Given the description of an element on the screen output the (x, y) to click on. 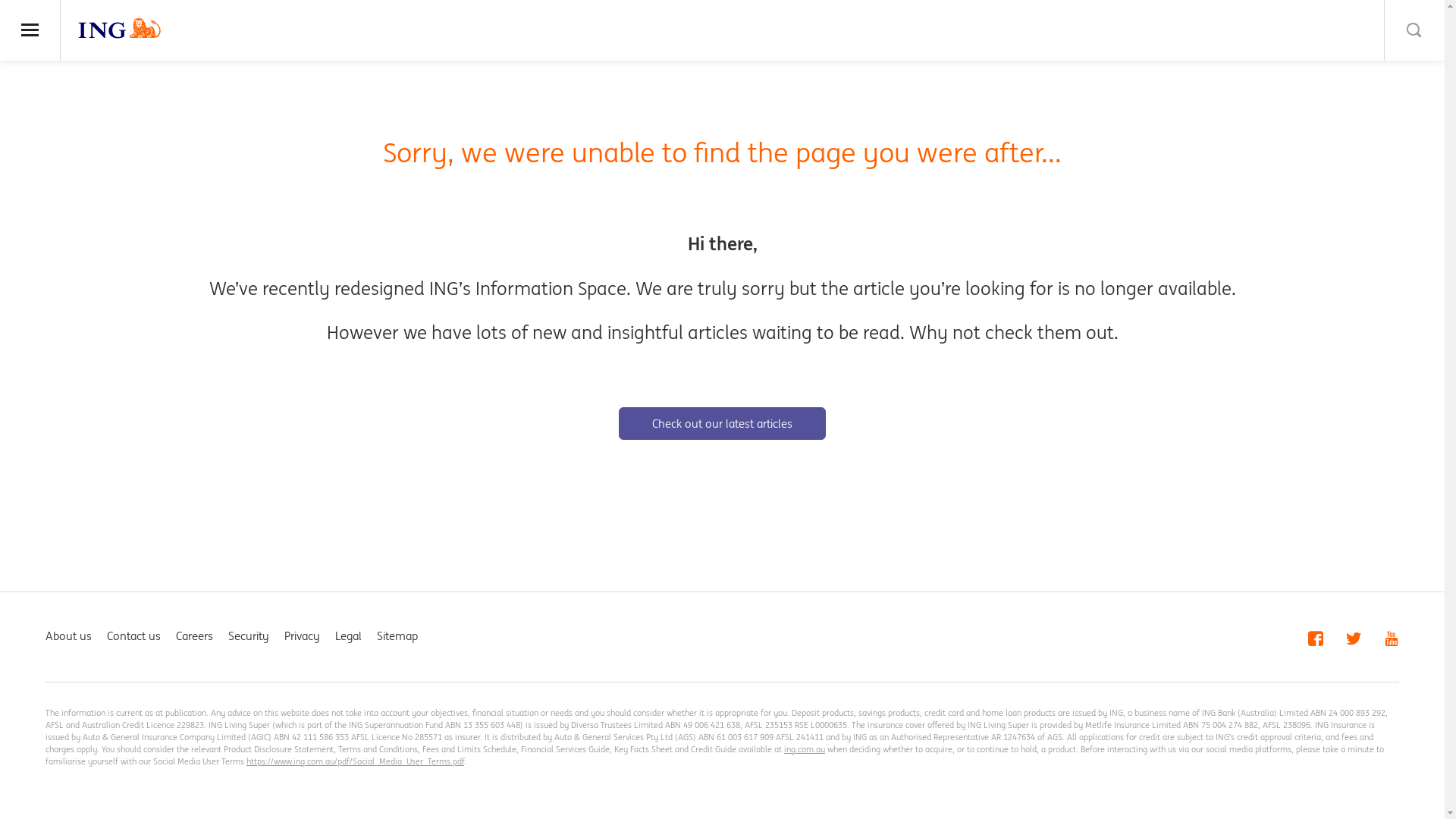
About us Element type: text (68, 635)
Sitemap Element type: text (396, 635)
Security Element type: text (248, 635)
Legal Element type: text (348, 635)
Privacy Element type: text (302, 635)
Careers Element type: text (194, 635)
Check out our latest articles Element type: text (721, 423)
https://www.ing.com.au/pdf/Social_Media_User_Terms.pdf Element type: text (355, 761)
ING Blog Element type: hover (119, 27)
ing.com.au Element type: text (804, 748)
Contact us Element type: text (133, 635)
